Given the description of an element on the screen output the (x, y) to click on. 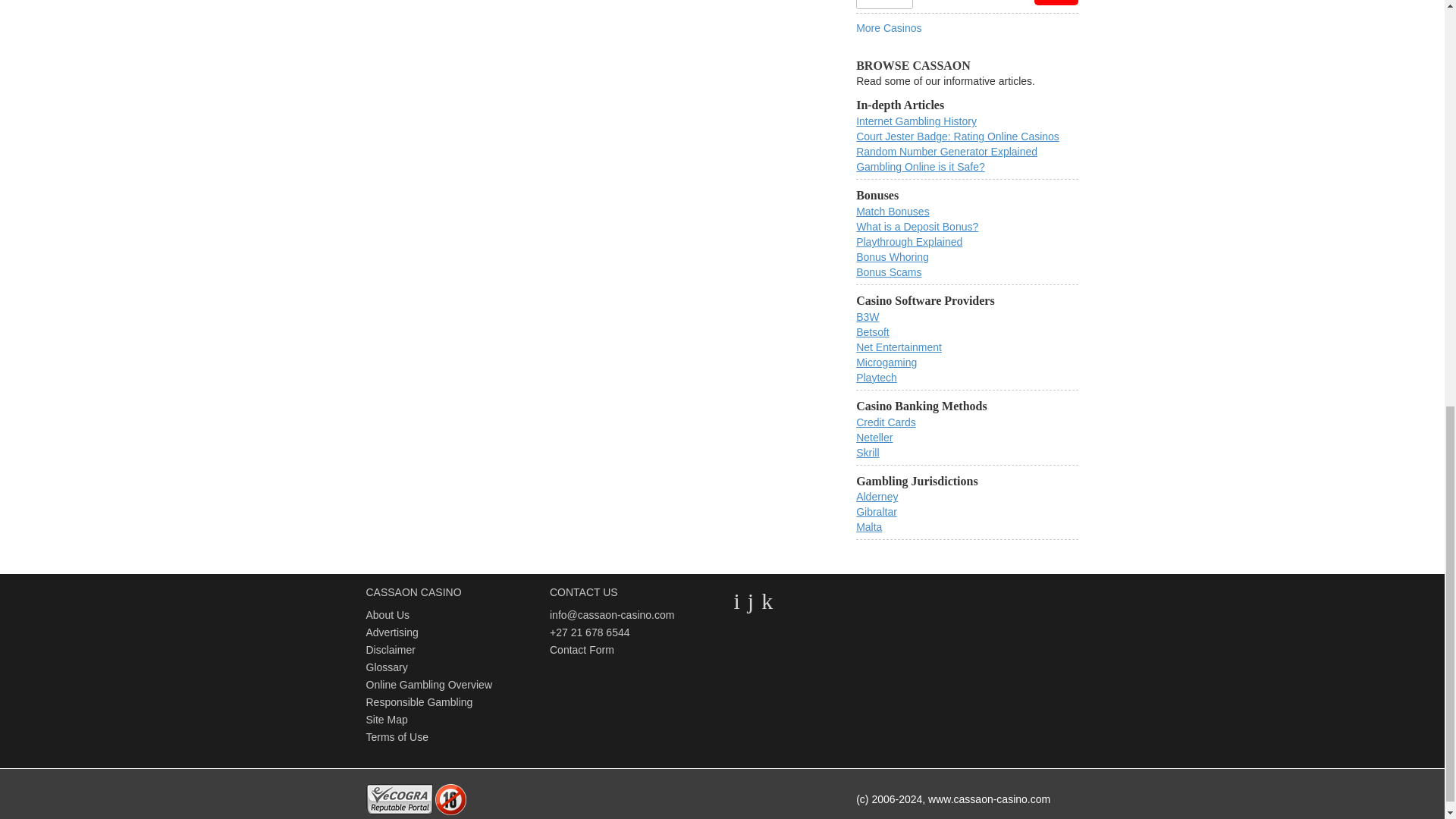
Follow Us on Facebook (751, 600)
Follow Us On Twitter (736, 600)
Like Us gplus (767, 600)
